Given the description of an element on the screen output the (x, y) to click on. 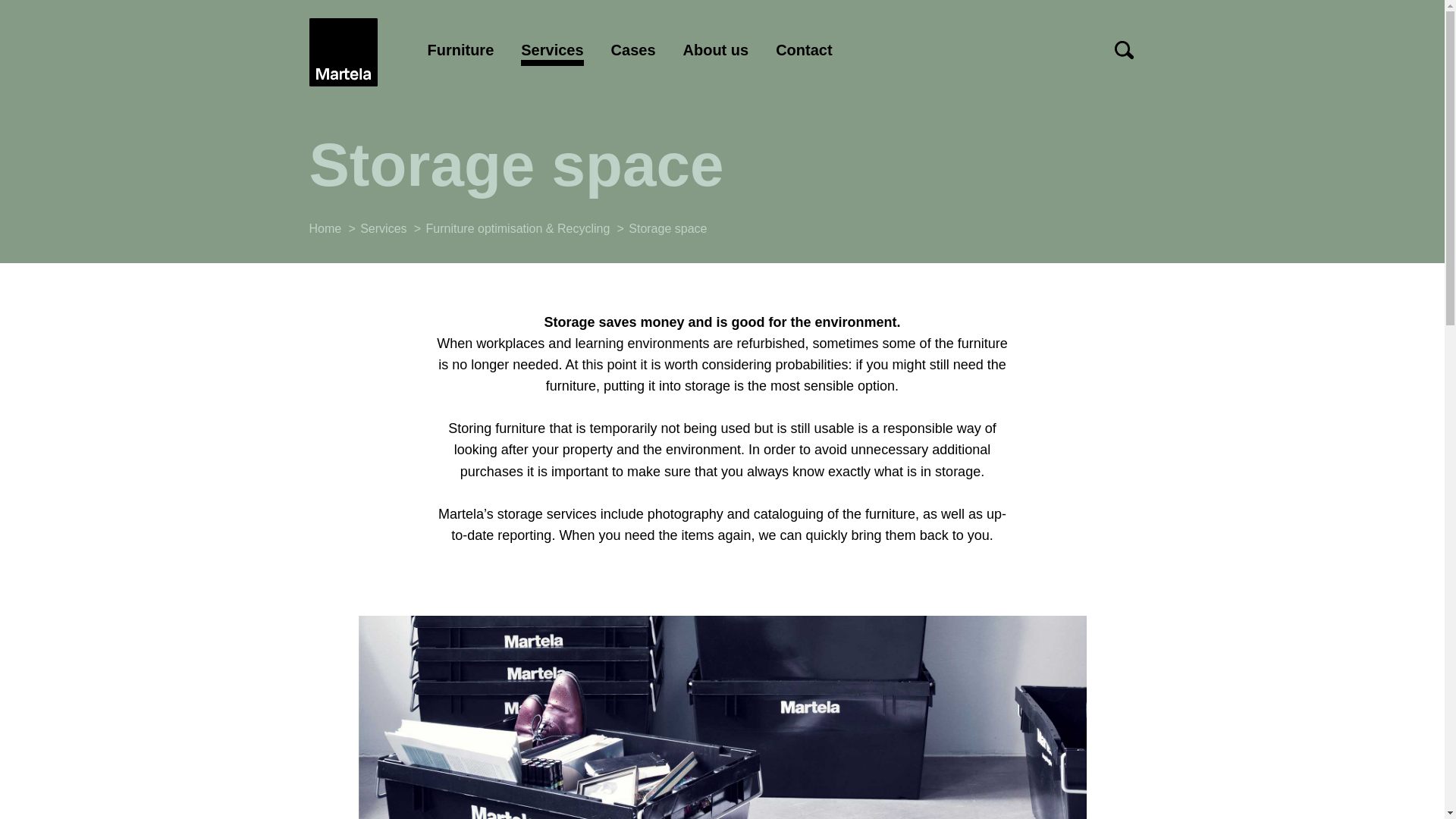
Home (342, 52)
Furniture (461, 52)
